Given the description of an element on the screen output the (x, y) to click on. 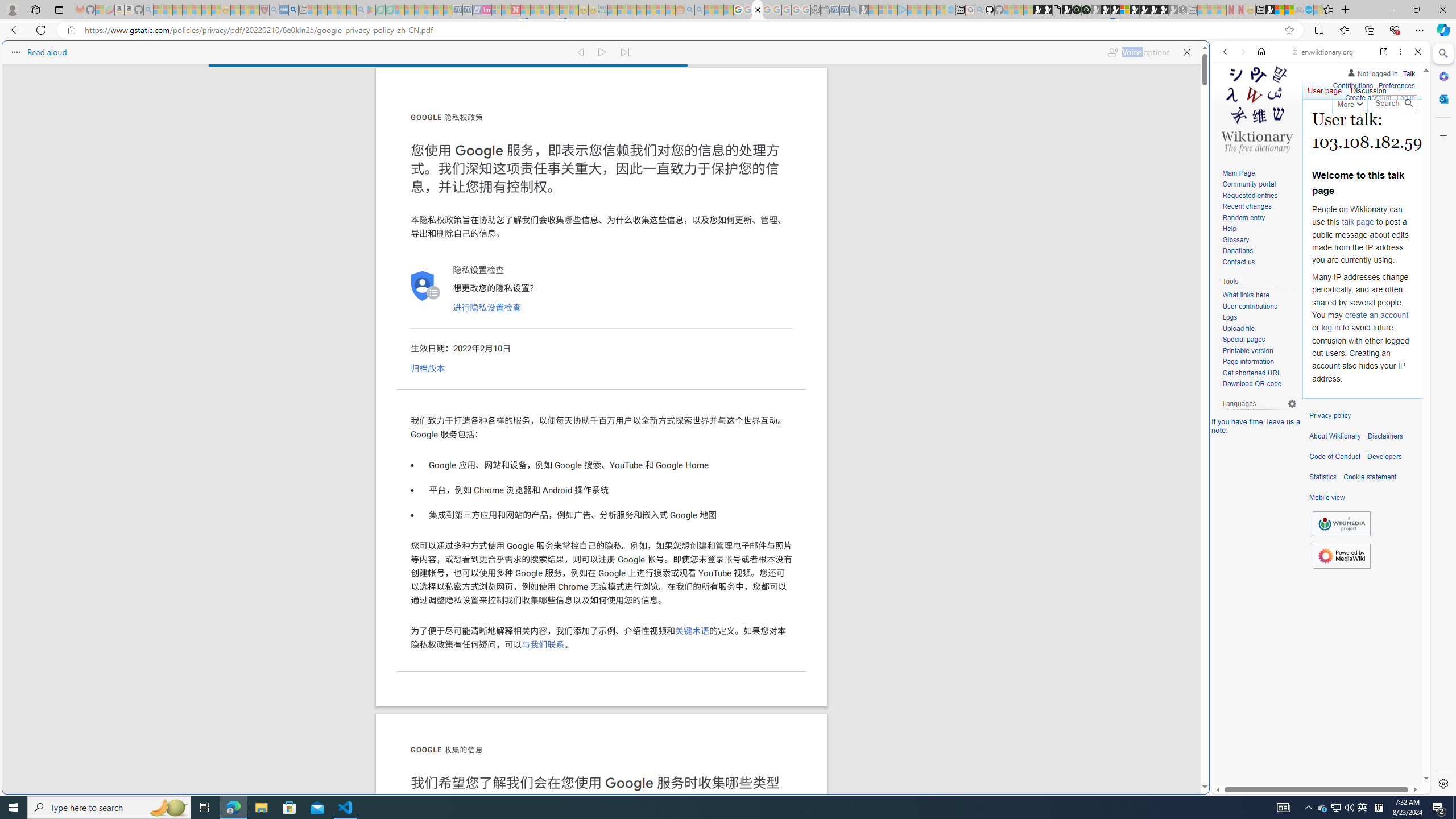
Help (1259, 229)
Special pages (1243, 339)
Play Cave FRVR in your browser | Games from Microsoft Start (1105, 9)
Tabs you've opened (885, 151)
DITOGAMES AG Imprint - Sleeping (602, 9)
Discussion (1367, 87)
Voice options (1138, 49)
Preferences (1396, 84)
Language settings (1292, 403)
Robert H. Shmerling, MD - Harvard Health - Sleeping (263, 9)
